Given the description of an element on the screen output the (x, y) to click on. 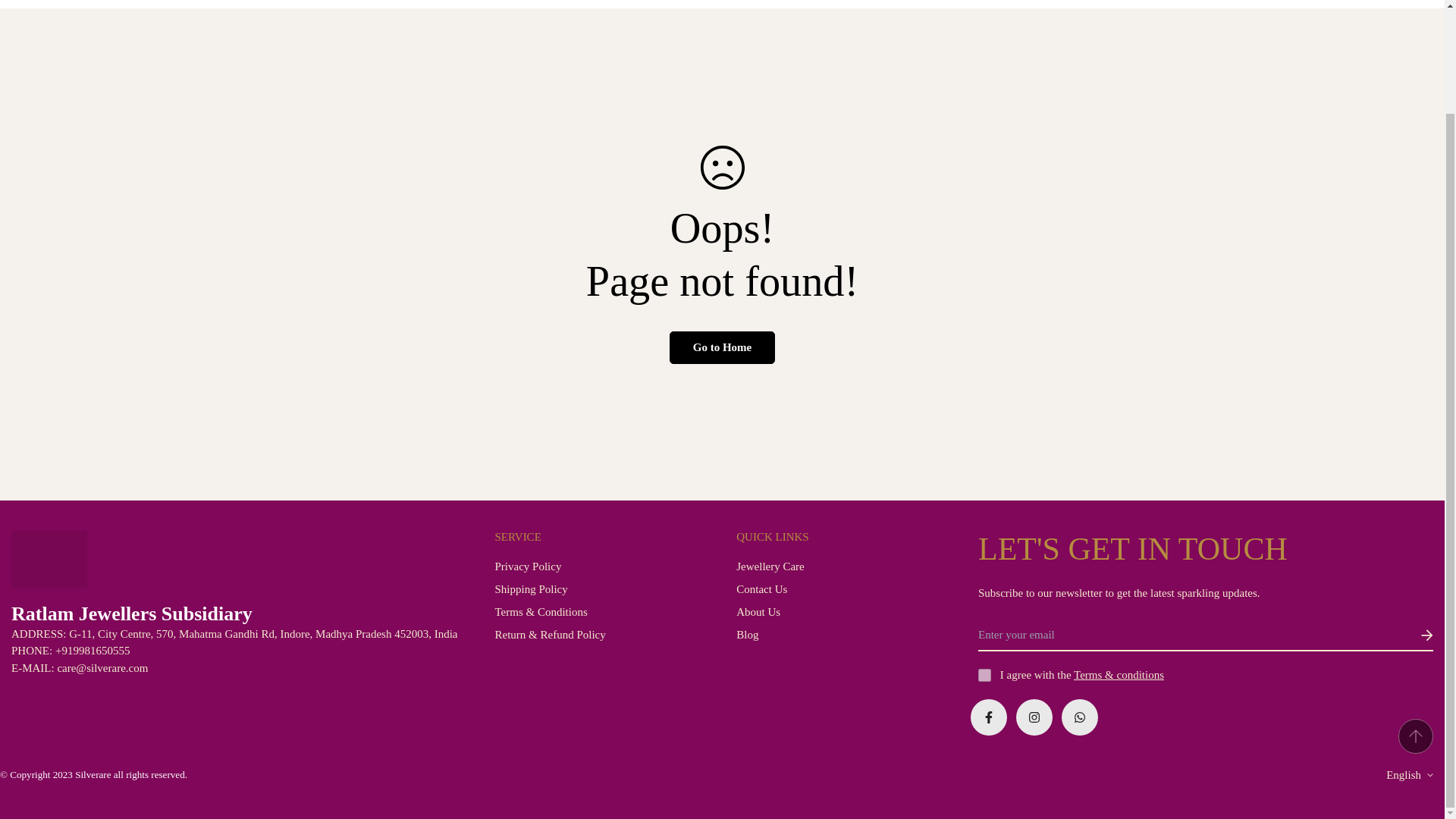
MEN (438, 4)
yes (984, 675)
WOMEN (529, 4)
UNISEX (721, 4)
